Given the description of an element on the screen output the (x, y) to click on. 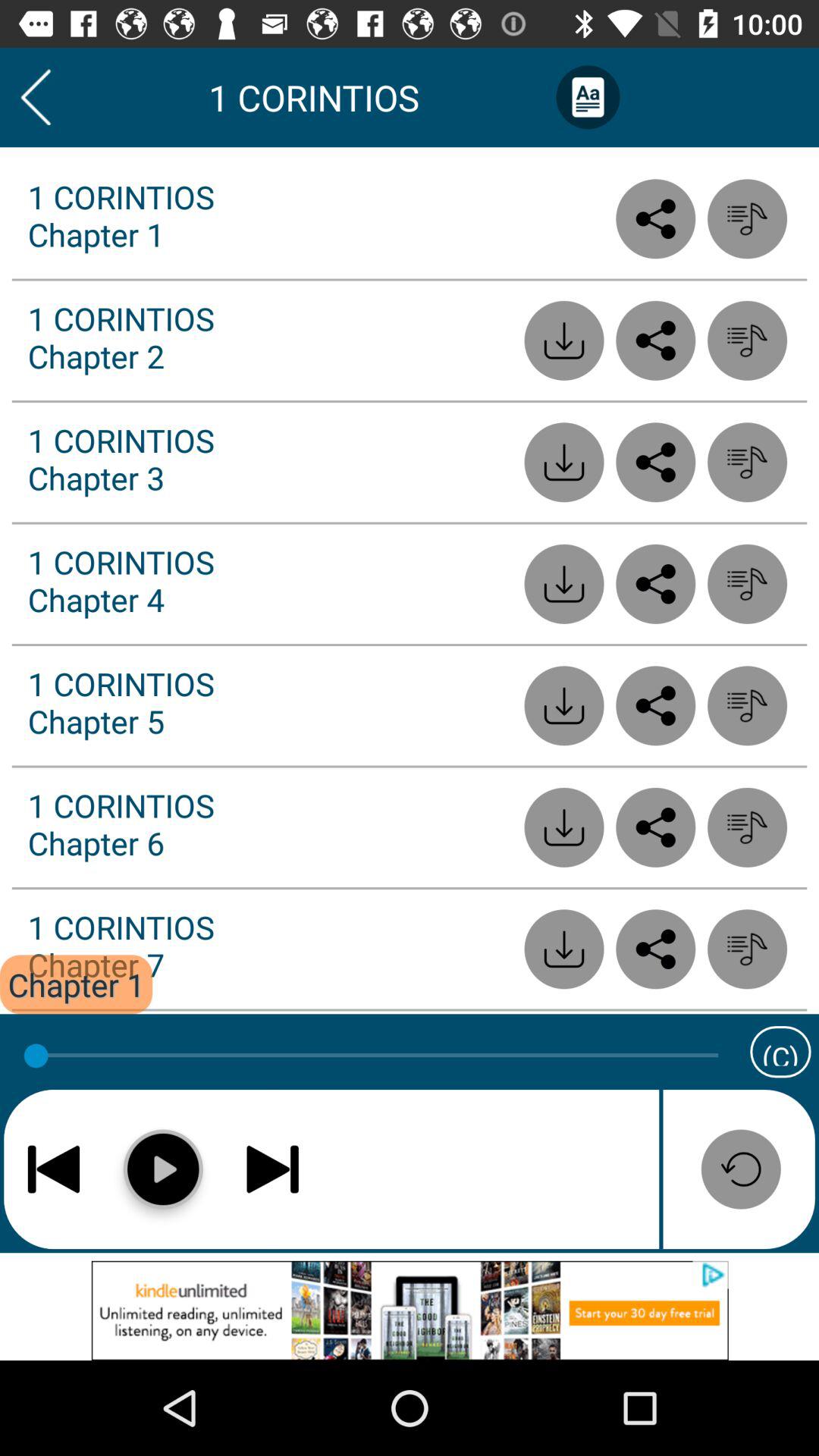
share button (655, 340)
